Given the description of an element on the screen output the (x, y) to click on. 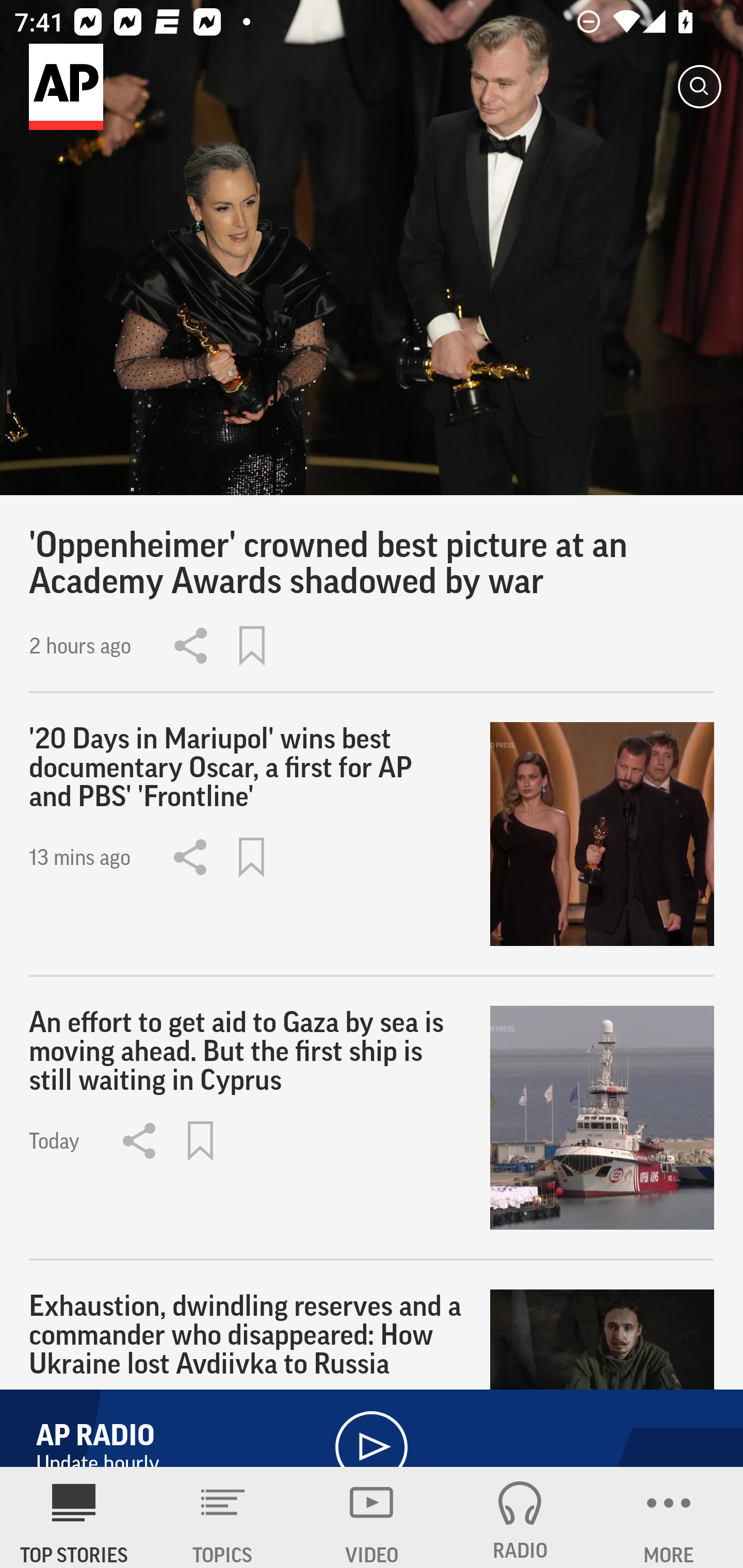
AP News TOP STORIES (74, 1517)
TOPICS (222, 1517)
VIDEO (371, 1517)
RADIO (519, 1517)
MORE (668, 1517)
